Given the description of an element on the screen output the (x, y) to click on. 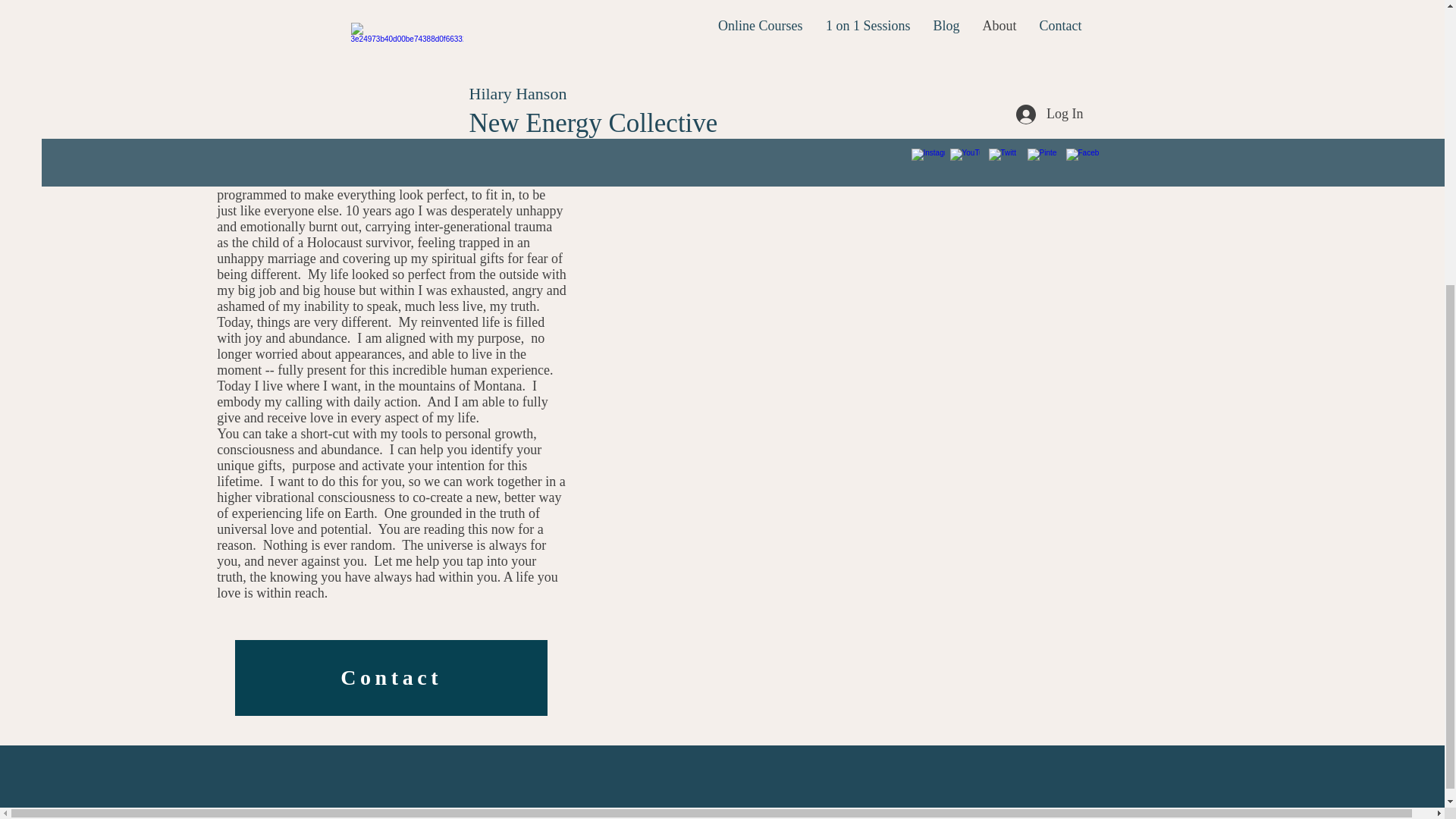
Contact (390, 677)
